Given the description of an element on the screen output the (x, y) to click on. 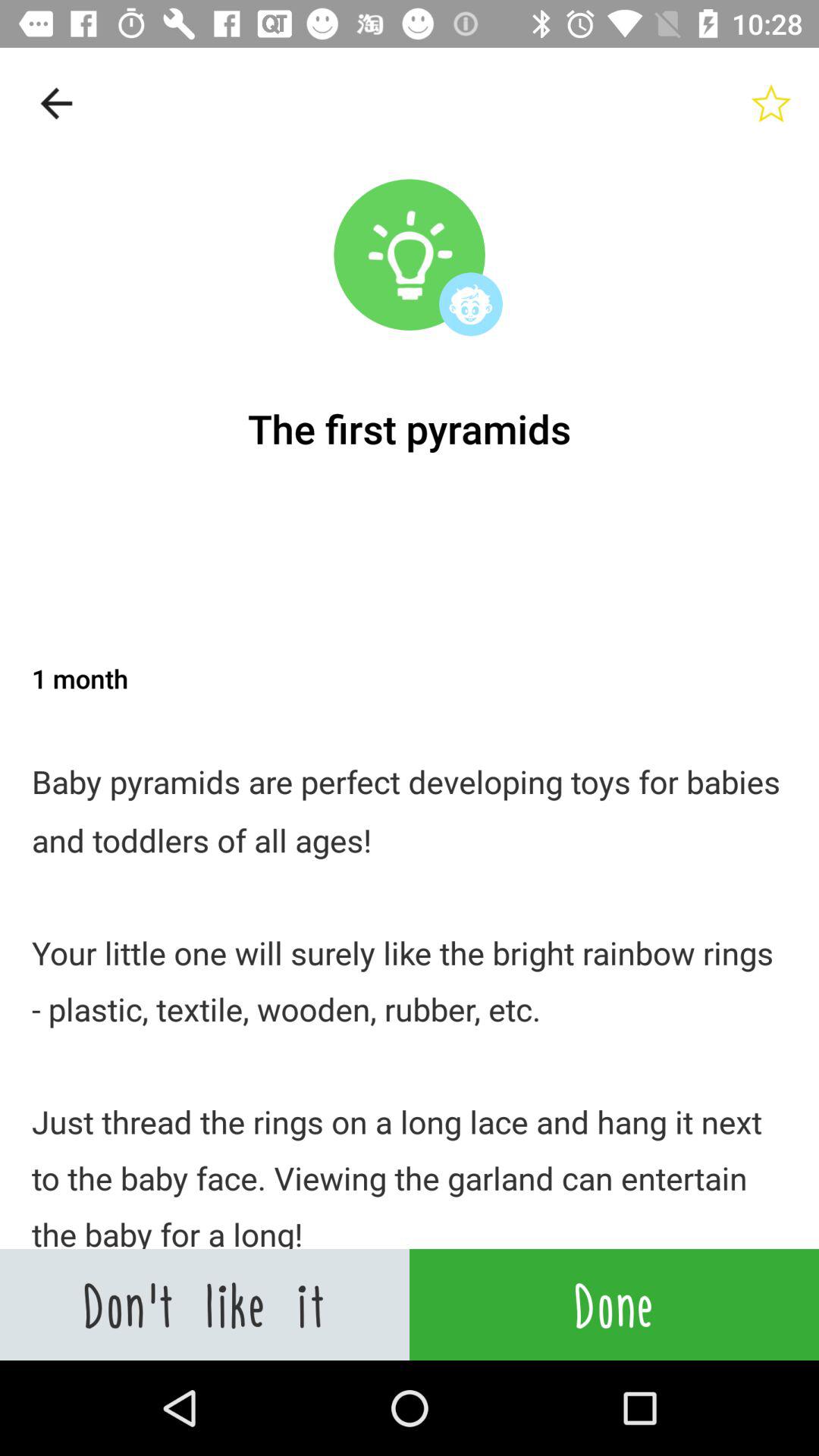
turn on the item above the the first pyramids (55, 103)
